Given the description of an element on the screen output the (x, y) to click on. 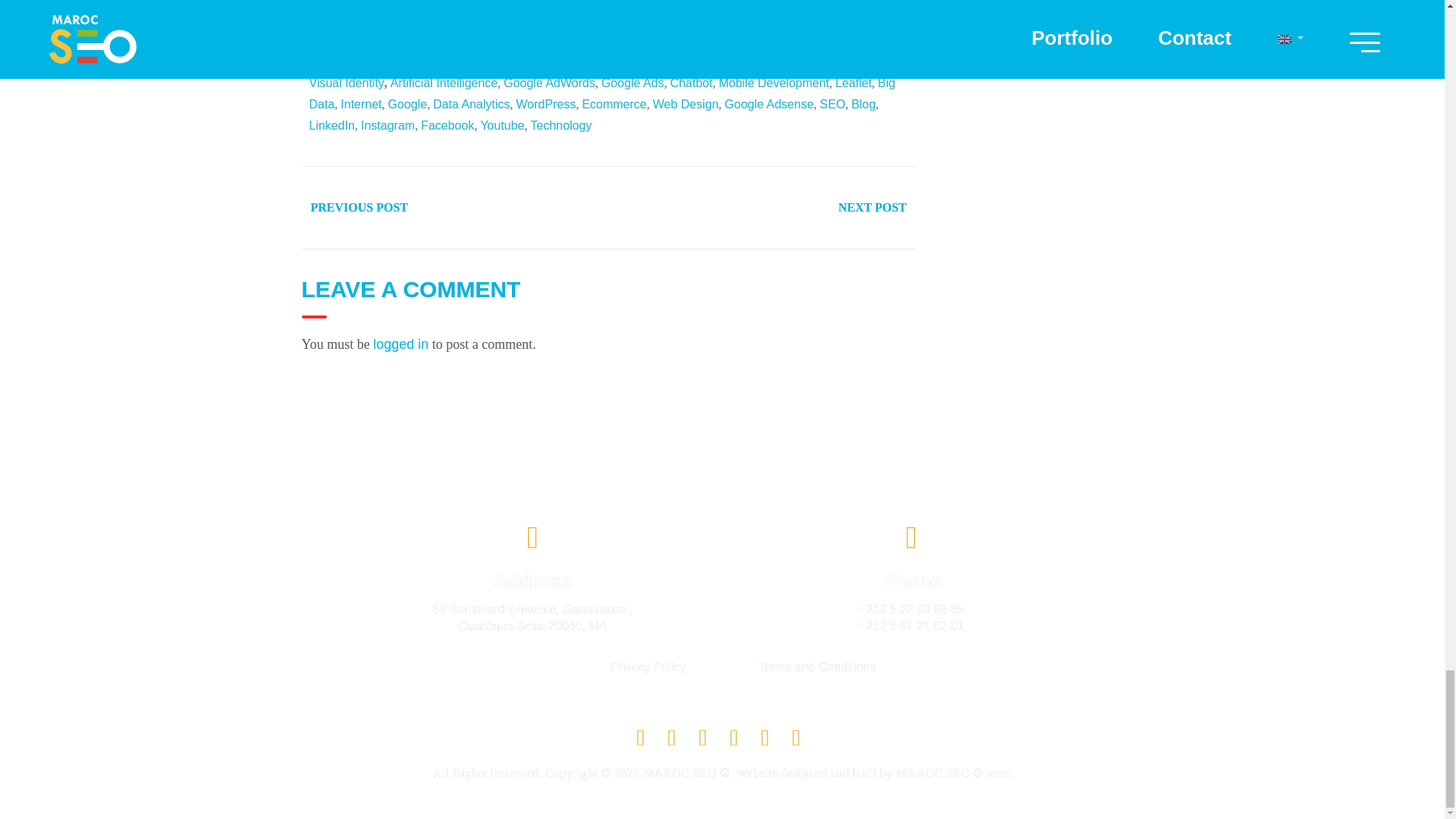
Web Applications and The 5 Types of Web Applications (493, 61)
Google Street View; Your Journey Made Easier in 2022 (660, 61)
